Given the description of an element on the screen output the (x, y) to click on. 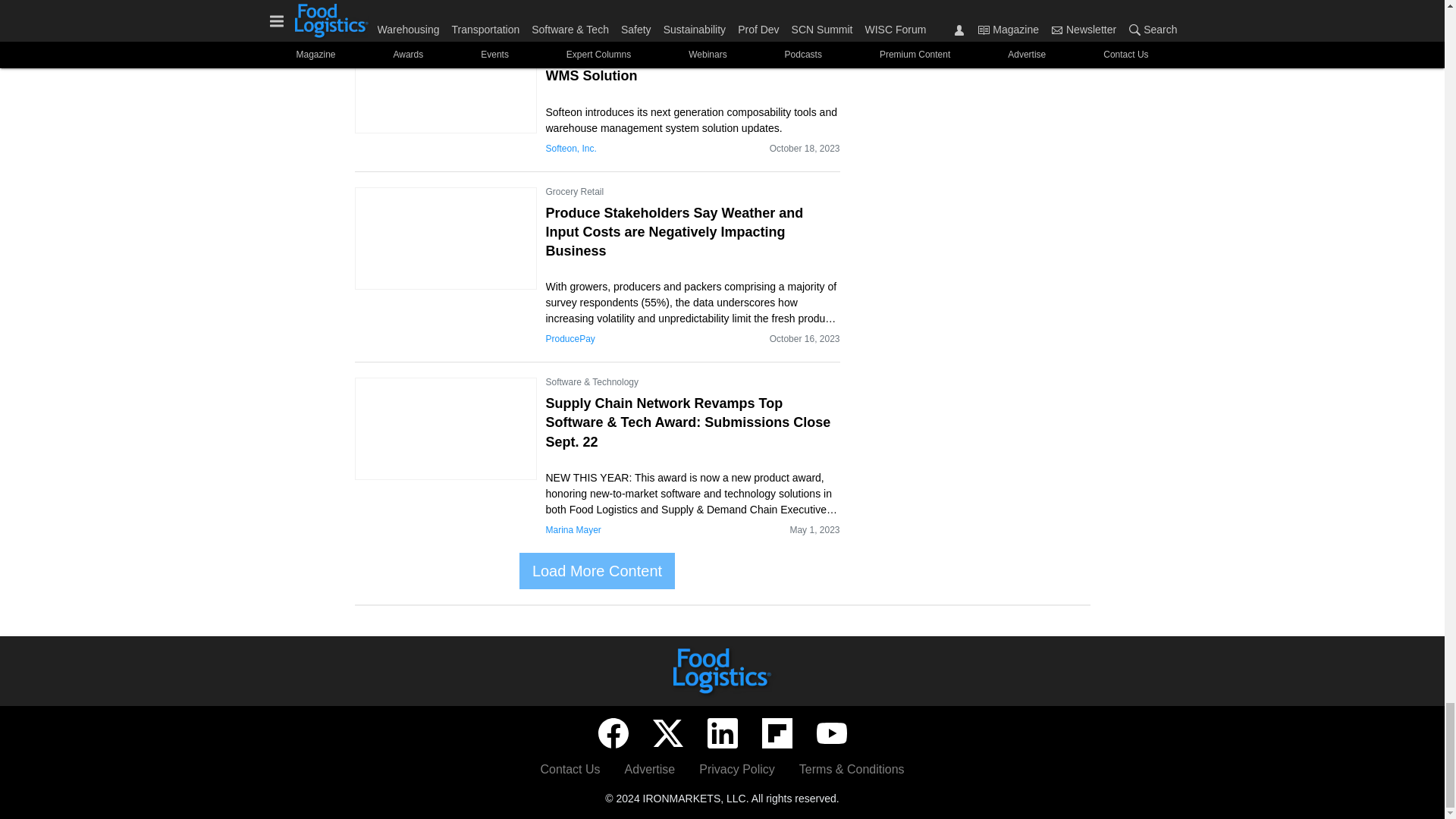
Facebook icon (611, 733)
Flipboard icon (776, 733)
YouTube icon (830, 733)
Twitter X icon (667, 733)
LinkedIn icon (721, 733)
